Given the description of an element on the screen output the (x, y) to click on. 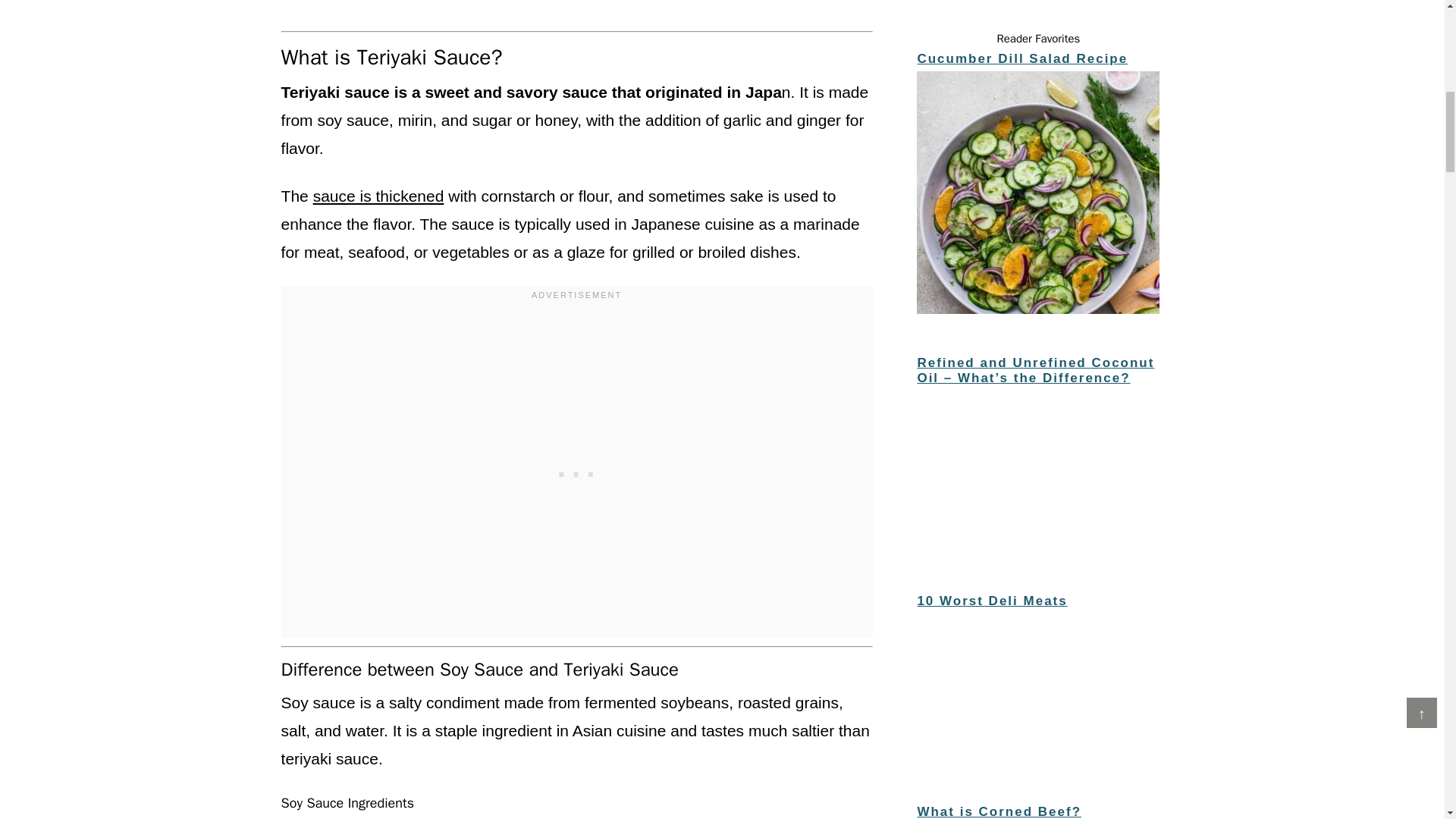
Cucumber Dill Salad Recipe (1037, 194)
Cucumber Dill Salad Recipe (1021, 58)
What is Corned Beef? (999, 811)
sauce is thickened (378, 195)
10 Worst Deli Meats (992, 600)
10 Worst Deli Meats (1037, 690)
